Given the description of an element on the screen output the (x, y) to click on. 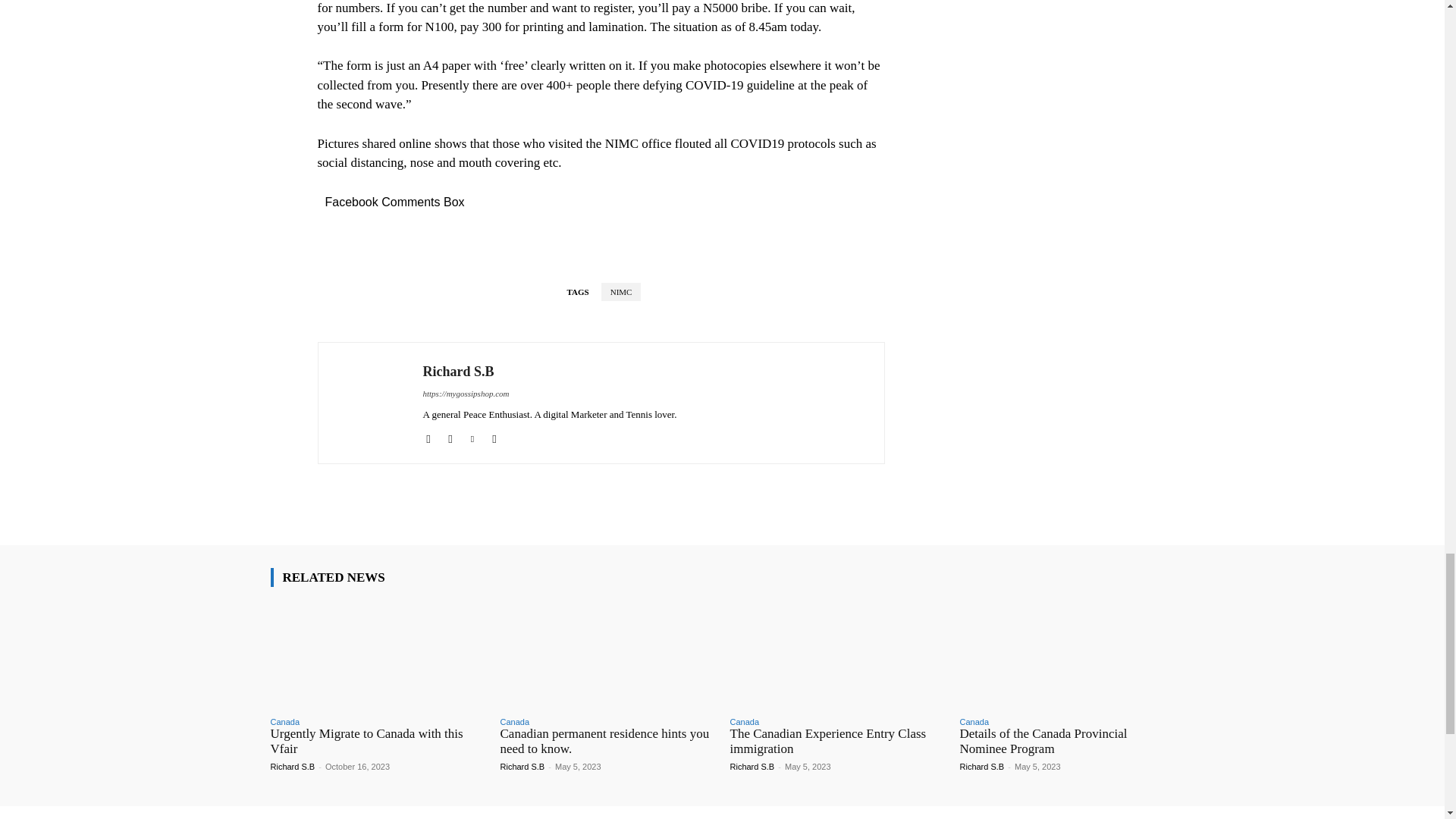
instagram (449, 436)
twitter (473, 436)
youtube (493, 436)
facebook (428, 436)
